Given the description of an element on the screen output the (x, y) to click on. 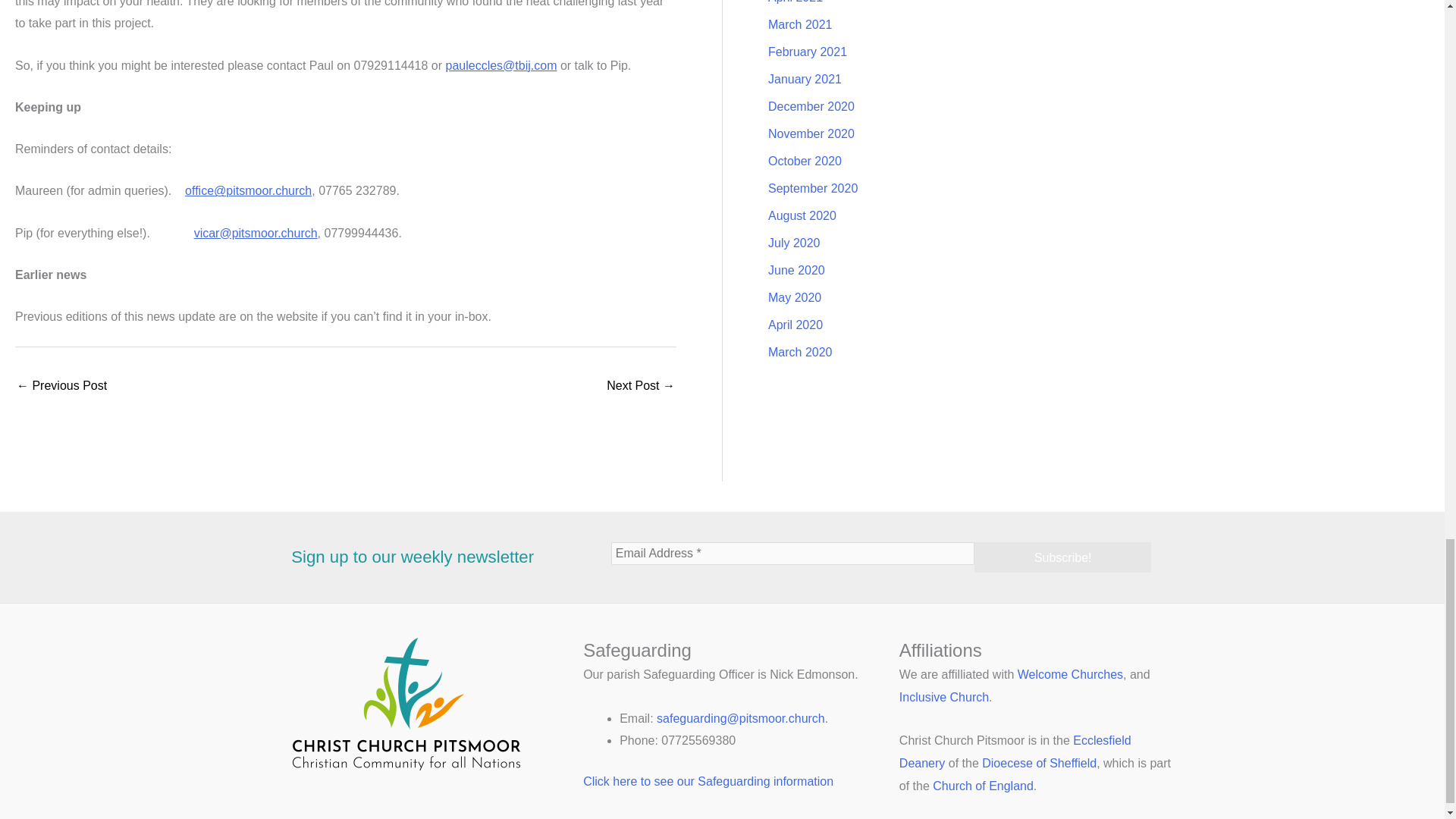
Weekly news for 28.5.23 (641, 387)
Subscribe! (1062, 557)
Email Address (793, 553)
Weekly news for 14.5.23 (61, 387)
